Given the description of an element on the screen output the (x, y) to click on. 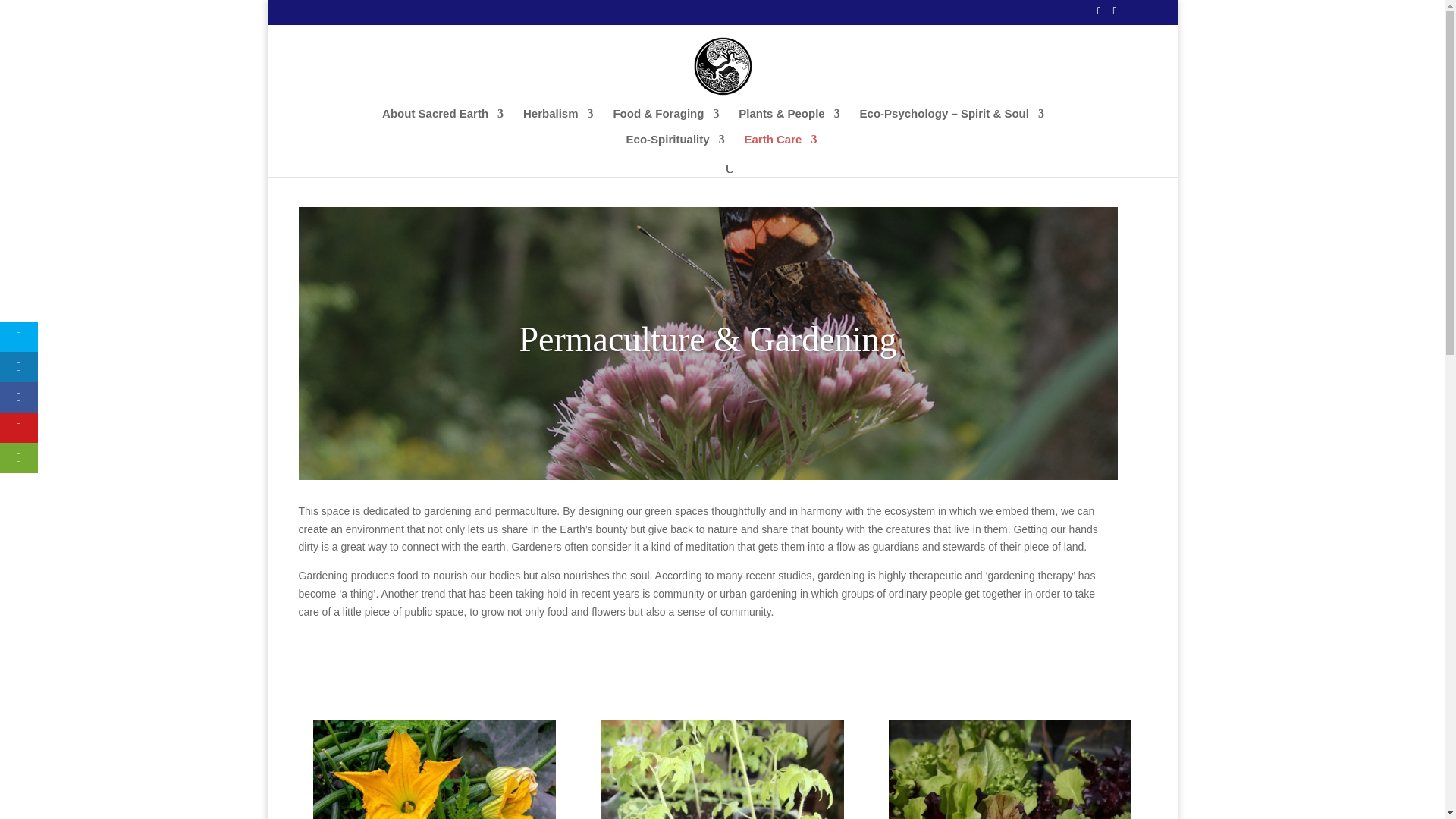
Eco-Spirituality (675, 145)
Earth Care (780, 145)
About Sacred Earth (442, 120)
Herbalism (558, 120)
